Given the description of an element on the screen output the (x, y) to click on. 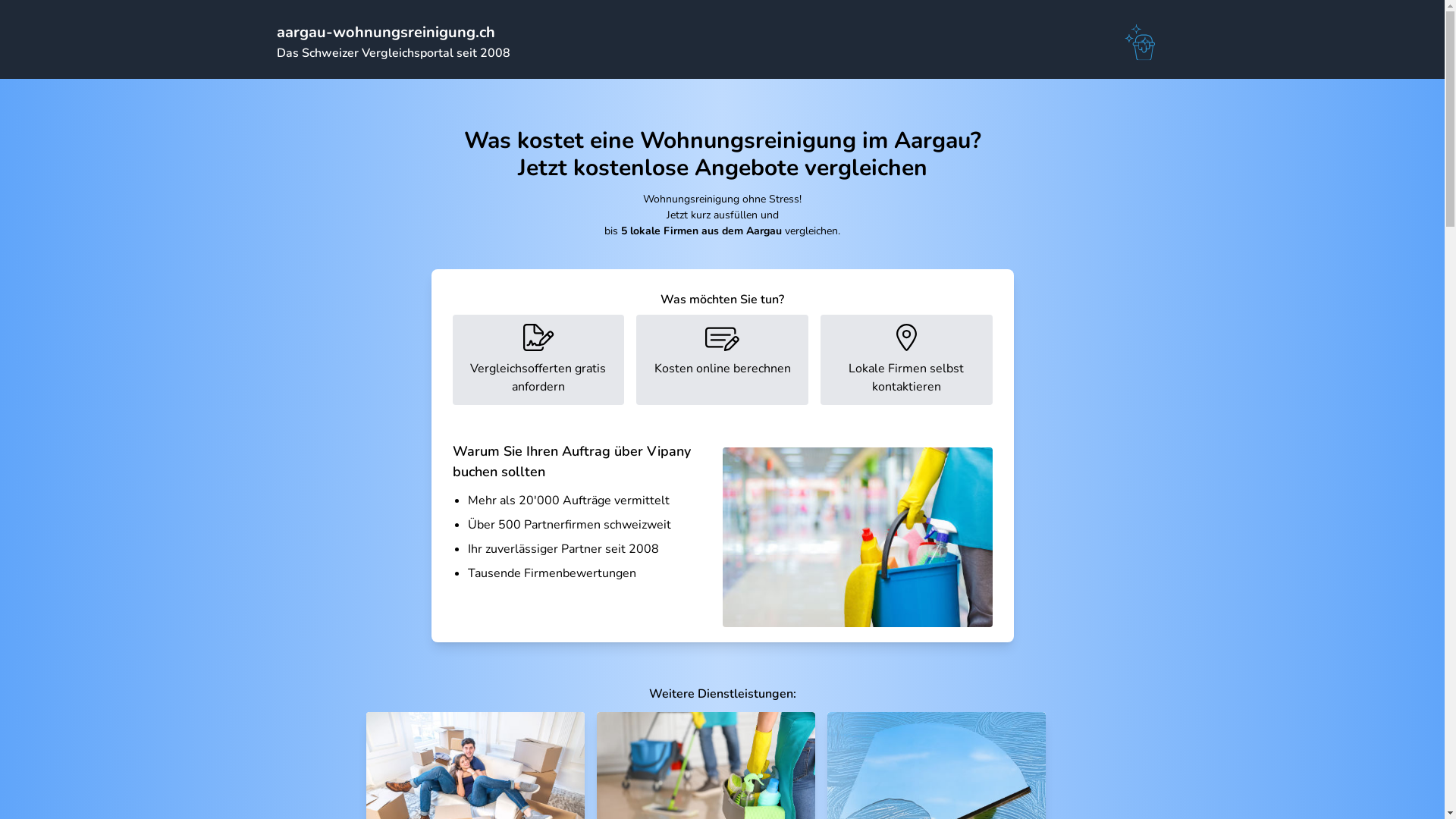
aargau-wohnungsreinigung.ch Element type: text (385, 31)
